Given the description of an element on the screen output the (x, y) to click on. 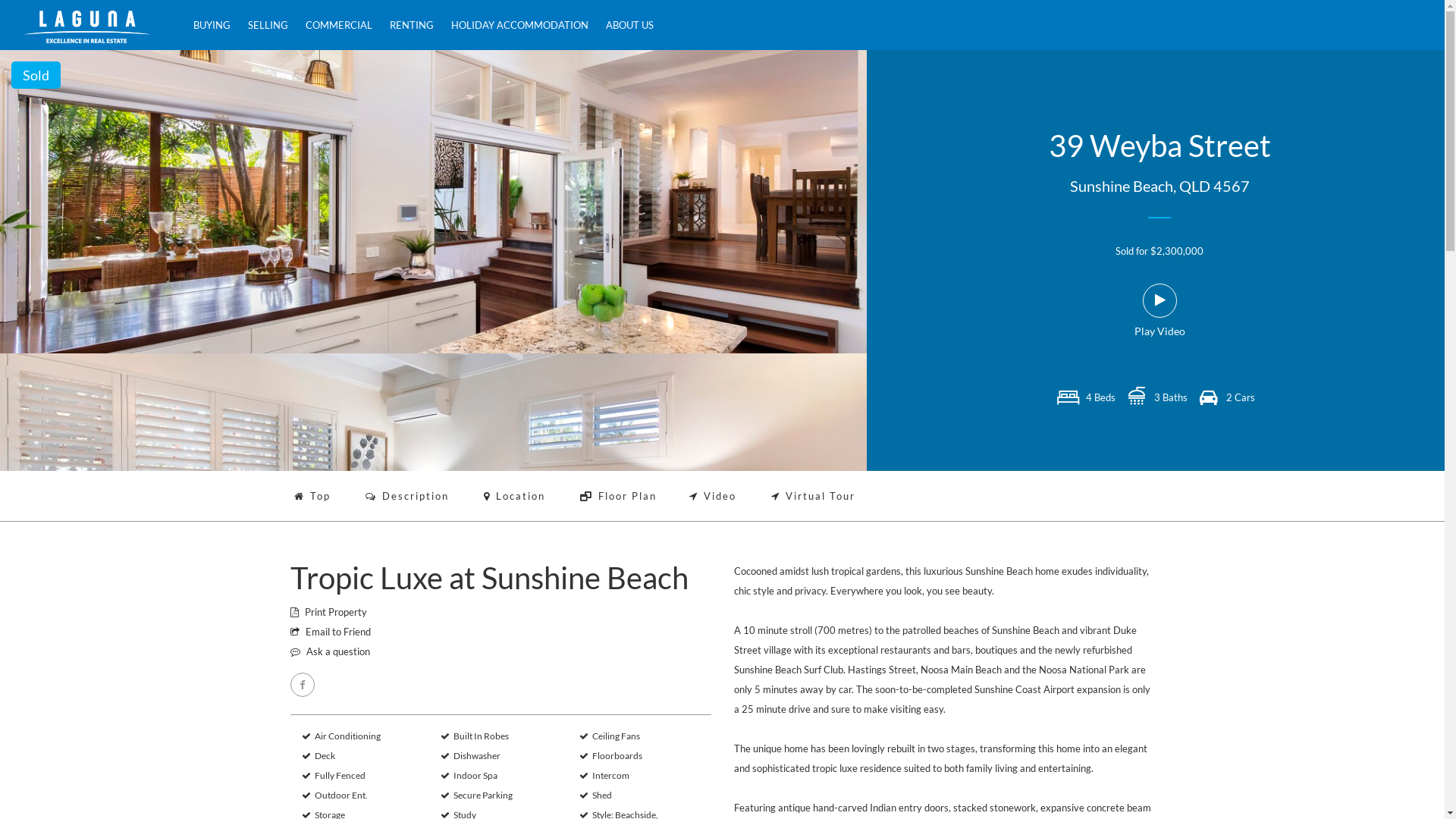
Email to Friend Element type: text (329, 631)
ABOUT US Element type: text (629, 25)
Virtual Tour Element type: text (812, 495)
SELLING Element type: text (267, 25)
COMMERCIAL Element type: text (338, 25)
BUYING Element type: text (211, 25)
Print Property Element type: text (327, 611)
Ask a question Element type: text (329, 651)
Top Element type: text (312, 495)
RENTING Element type: text (411, 25)
HOLIDAY ACCOMMODATION Element type: text (519, 25)
Floor Plan Element type: text (617, 495)
Video Element type: text (711, 495)
Description Element type: text (406, 495)
Location Element type: text (514, 495)
